Given the description of an element on the screen output the (x, y) to click on. 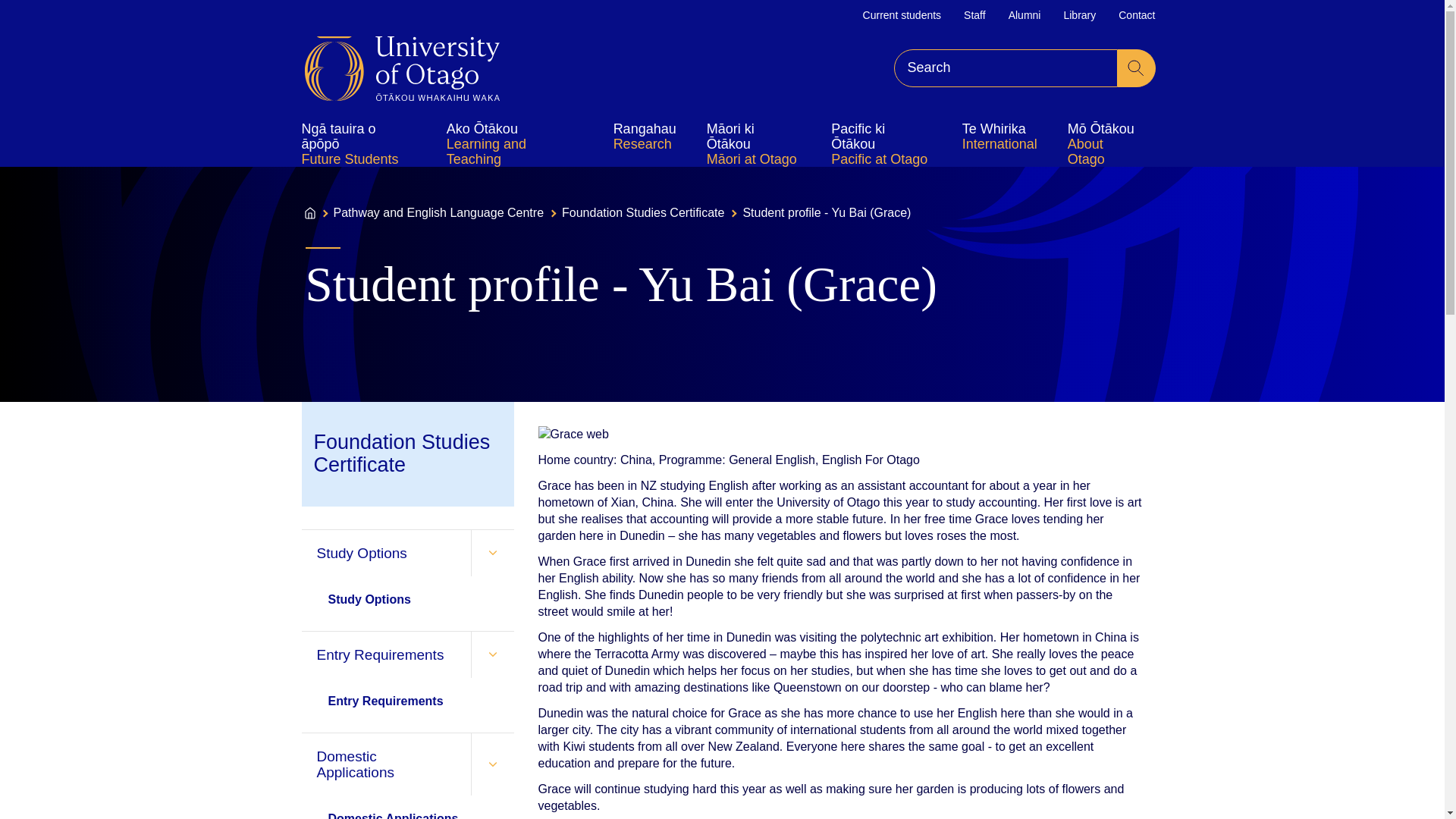
Contact (1136, 15)
Staff (974, 15)
Library (1079, 15)
Current students (902, 15)
Alumni (1025, 15)
Home (402, 68)
